Given the description of an element on the screen output the (x, y) to click on. 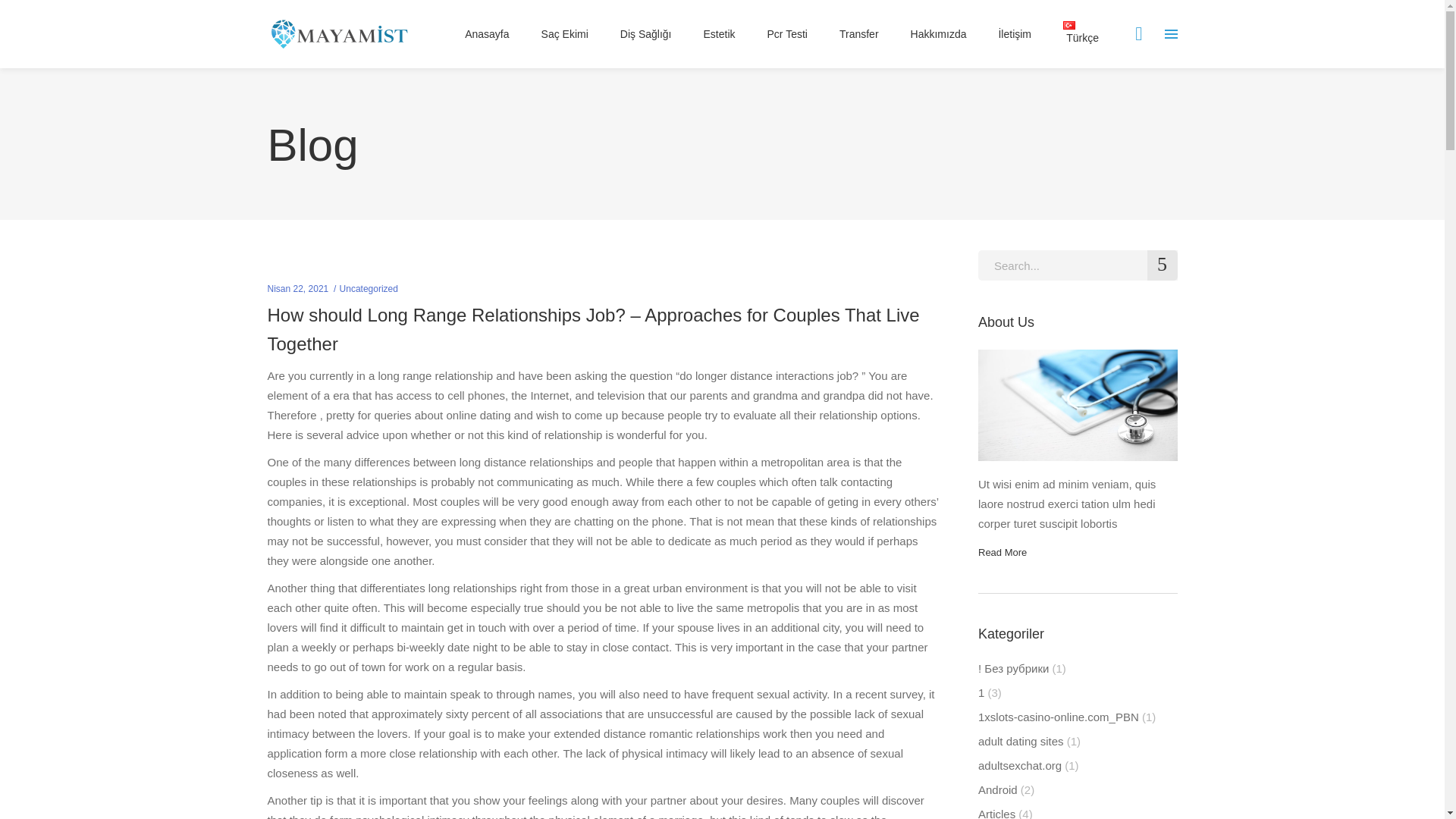
Search for: (1077, 265)
Anasayfa (486, 33)
Estetik (719, 33)
